Given the description of an element on the screen output the (x, y) to click on. 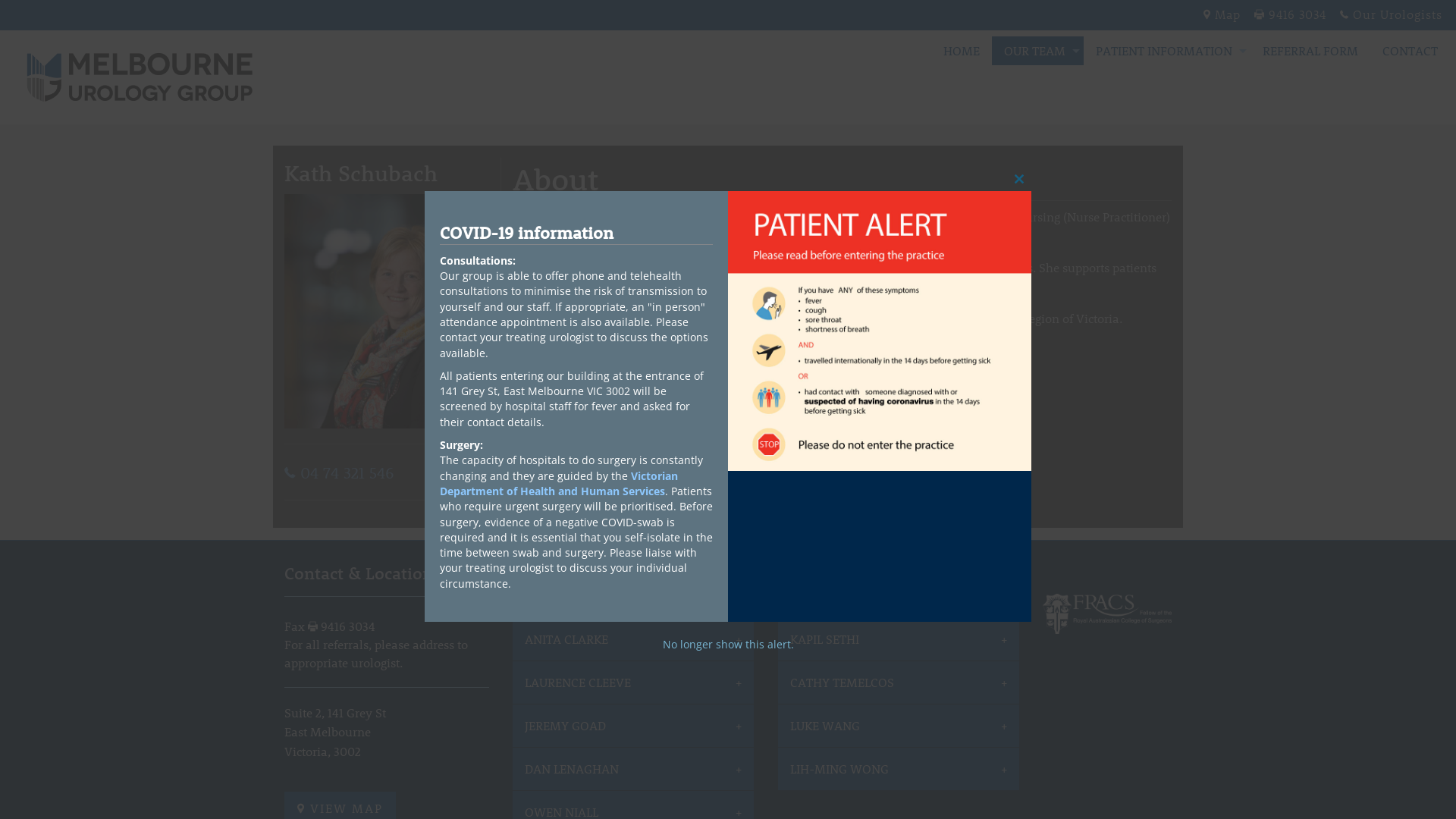
HOME Element type: text (961, 50)
CONTACT Element type: text (1409, 50)
PATIENT INFORMATION Element type: text (1166, 50)
LAURENCE CLEEVE Element type: text (632, 682)
REFERRAL FORM Element type: text (1310, 50)
OUR TEAM Element type: text (1037, 50)
Victorian Department of Health and Human Services Element type: text (558, 483)
LUKE WANG Element type: text (898, 725)
Close this module Element type: text (1019, 178)
DAN LENAGHAN Element type: text (632, 768)
JEREMY GOAD Element type: text (632, 725)
Map Element type: text (1228, 14)
CATHY TEMELCOS Element type: text (898, 682)
9416 3034 Element type: text (1296, 14)
No longer show this alert. Element type: text (727, 644)
LIH-MING WONG Element type: text (898, 768)
04 74 321 546 Element type: text (339, 471)
KAPIL SETHI Element type: text (898, 639)
ANITA CLARKE Element type: text (632, 639)
